Given the description of an element on the screen output the (x, y) to click on. 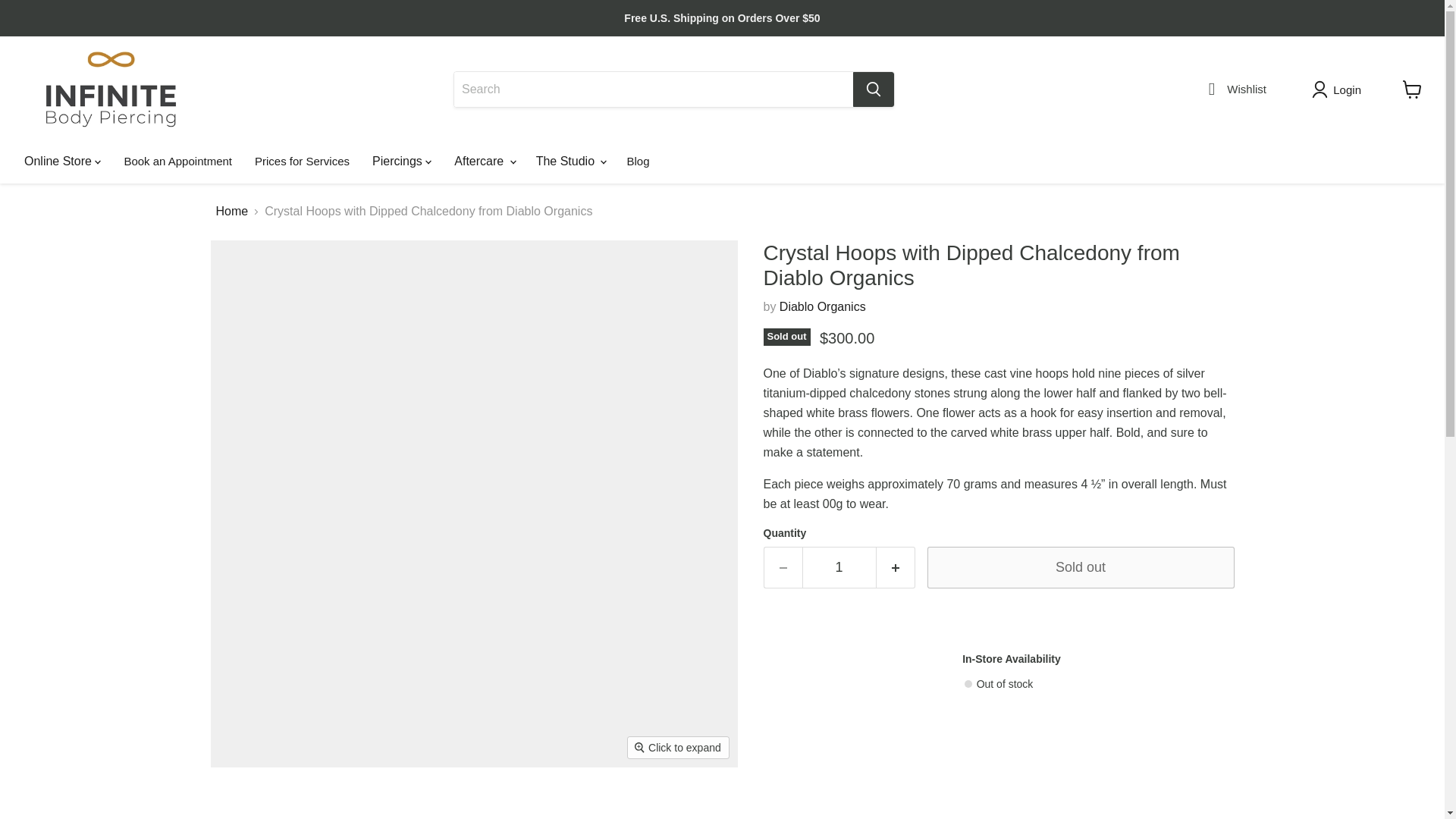
Diablo Organics (822, 306)
View cart (1411, 89)
Login (1339, 89)
Wishlist (1232, 91)
1 (839, 567)
